Given the description of an element on the screen output the (x, y) to click on. 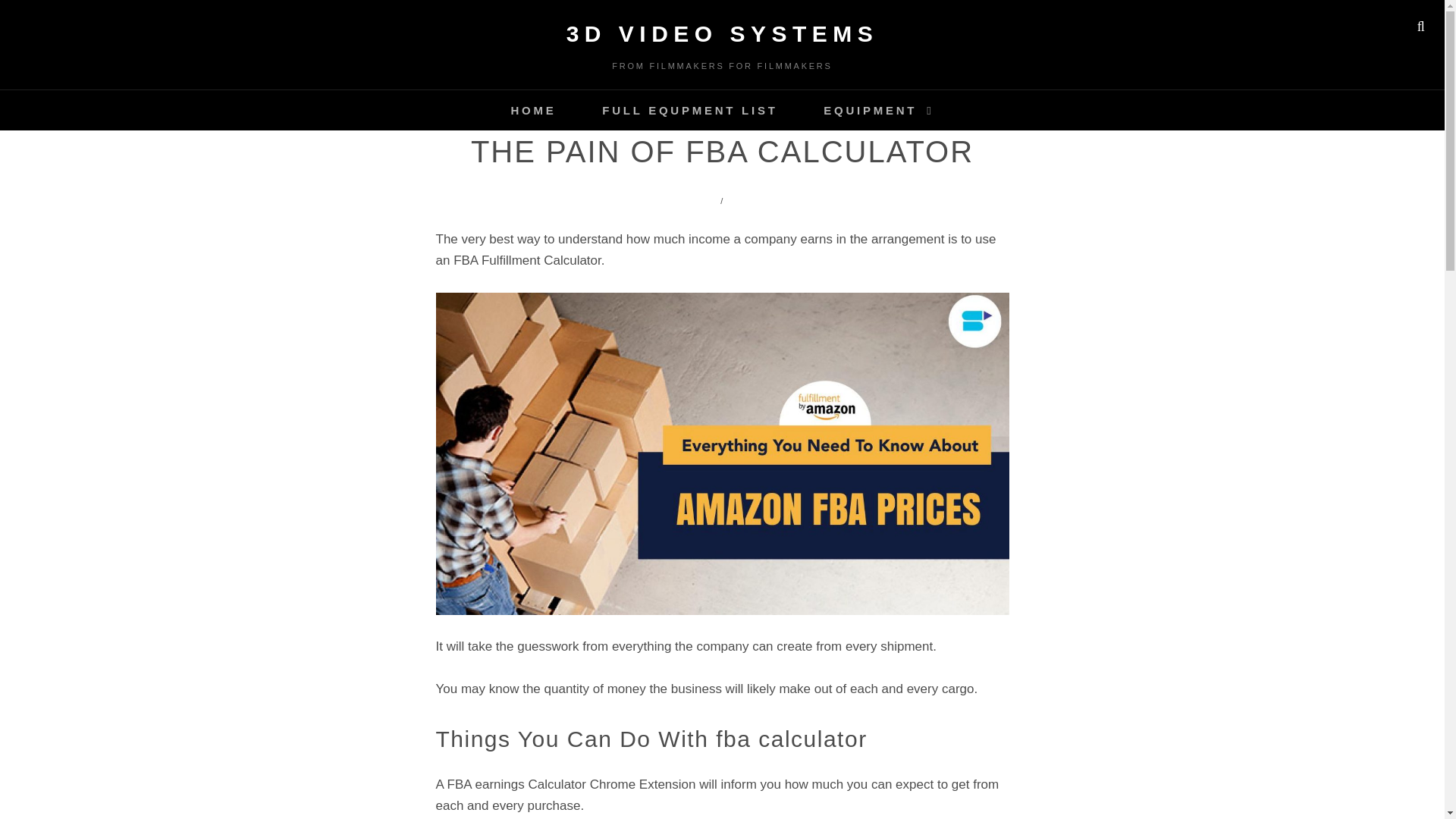
FULL EQUPMENT LIST (688, 110)
HOME (532, 110)
3D VIDEO SYSTEMS (722, 33)
EQUIPMENT (878, 110)
